Given the description of an element on the screen output the (x, y) to click on. 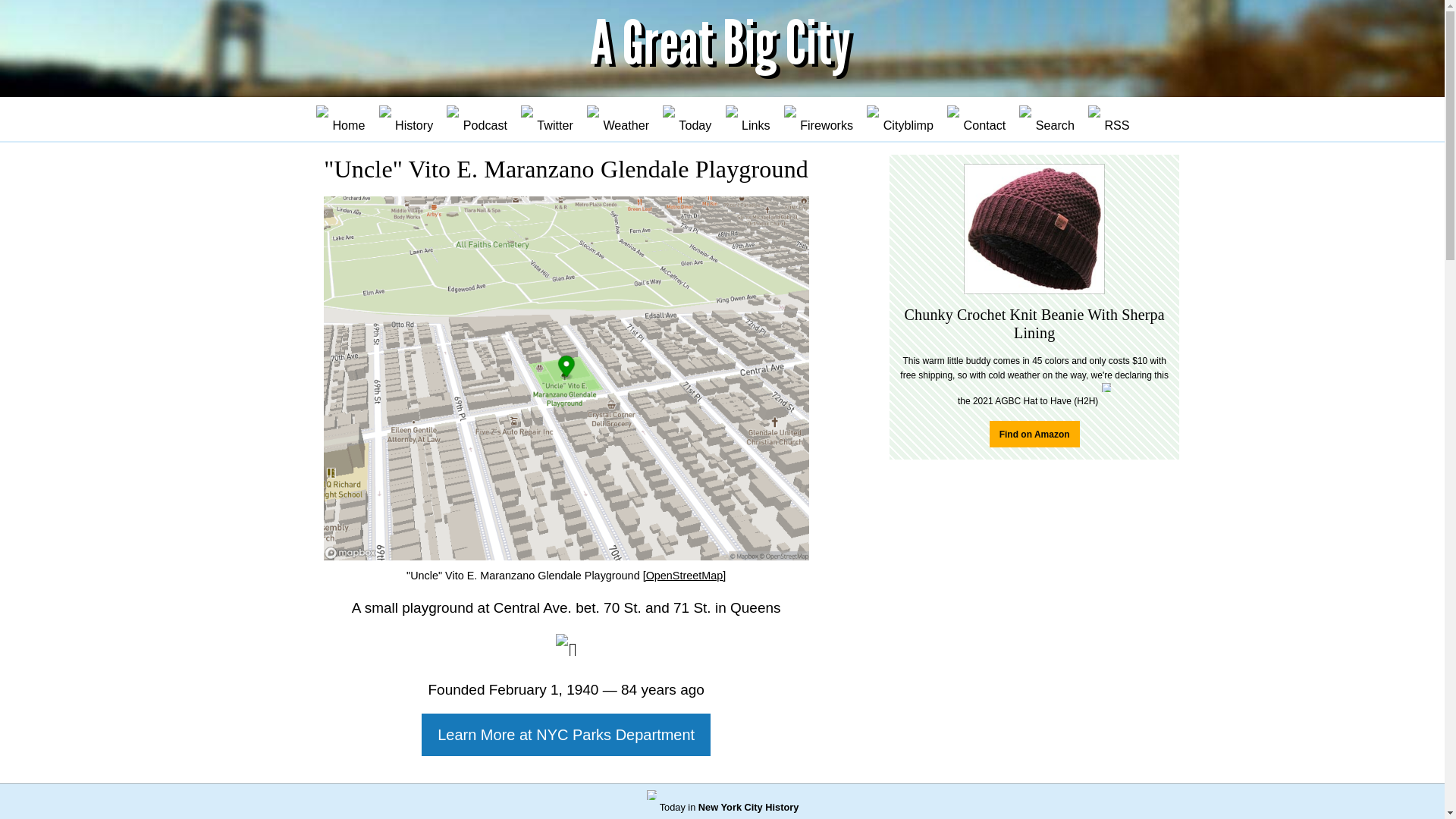
Today (687, 120)
Links from across NYC (746, 120)
A Great Big City on Twitter (546, 120)
AGBC Podcast (476, 120)
Home (339, 120)
Twitter (546, 120)
Upcoming fireworks (817, 120)
Learn More at NYC Parks Department (566, 734)
RSS (1107, 120)
Send email or feedback to AGBC (976, 120)
YouTube video player (1034, 651)
Search (1045, 120)
History (405, 120)
Contact (976, 120)
A Great Big City (721, 47)
